Given the description of an element on the screen output the (x, y) to click on. 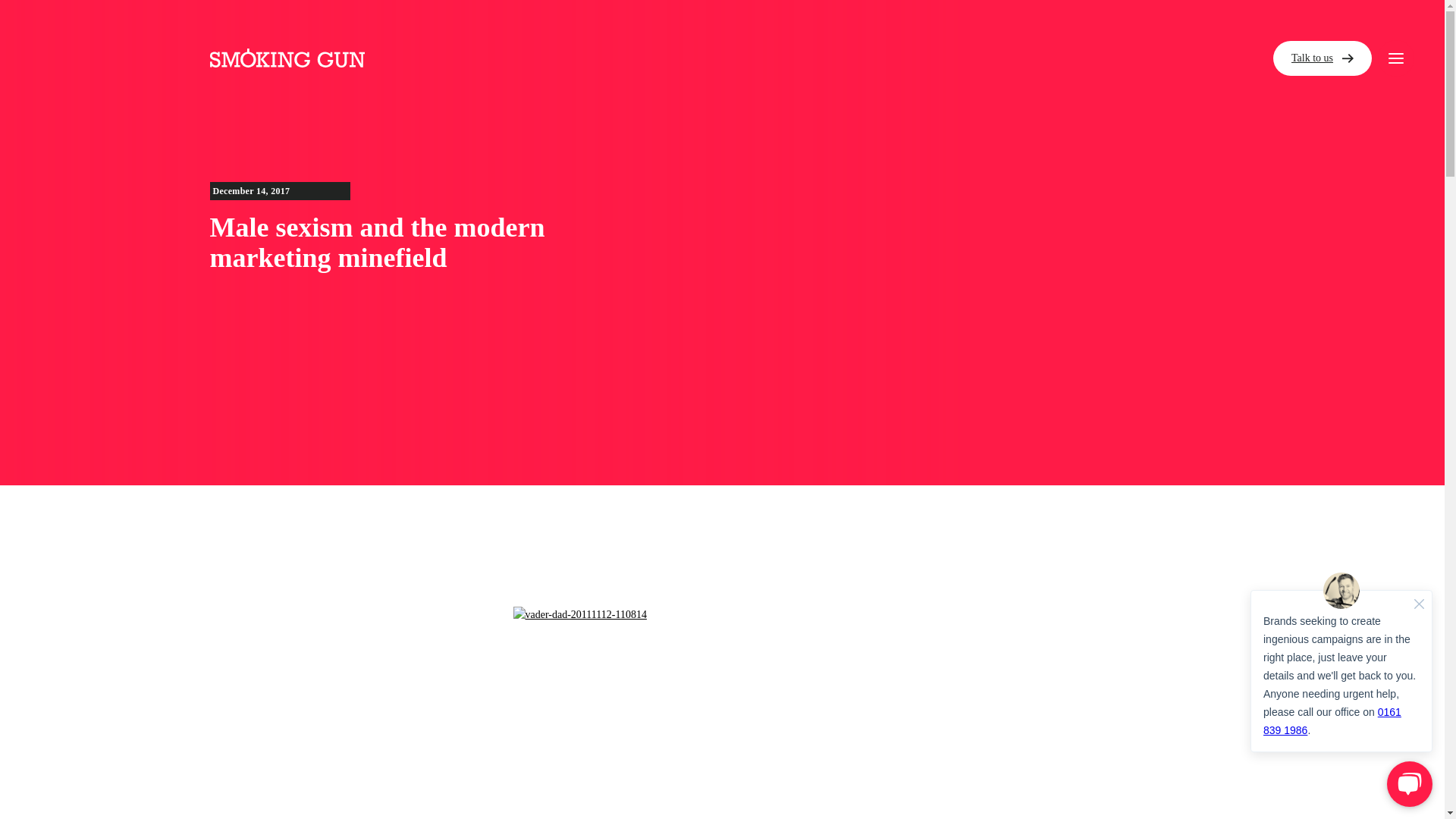
Smoking Gun PR (287, 57)
talk to us (897, 209)
resources and news (975, 21)
Talk to us (1321, 58)
apprenticeships (947, 145)
jobs (857, 81)
